Given the description of an element on the screen output the (x, y) to click on. 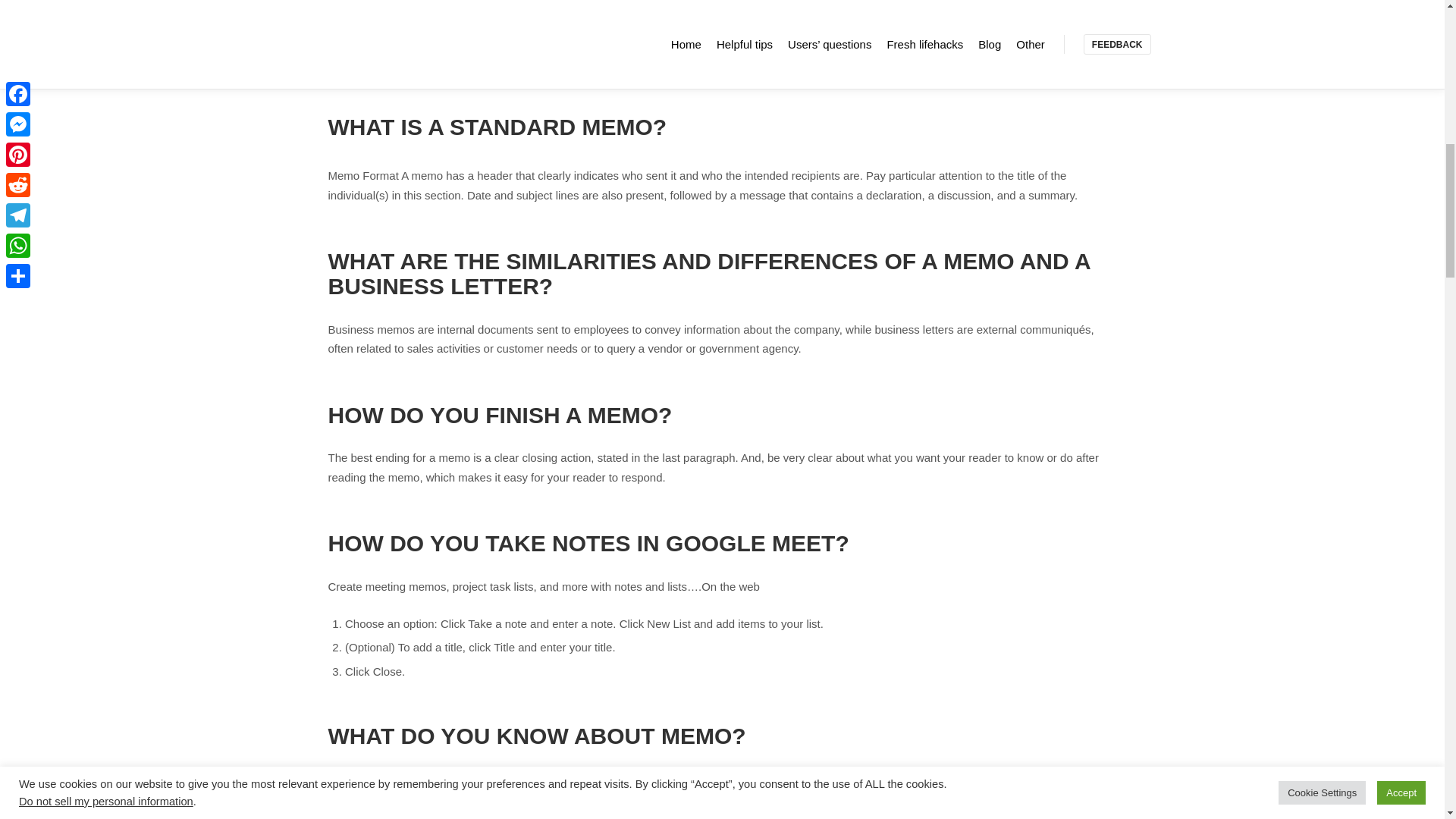
How do I write a memo? (403, 51)
Is there a notepad for Android? (419, 4)
How do I make a memo on my phone? (437, 34)
Is there a memo app? (397, 16)
